Given the description of an element on the screen output the (x, y) to click on. 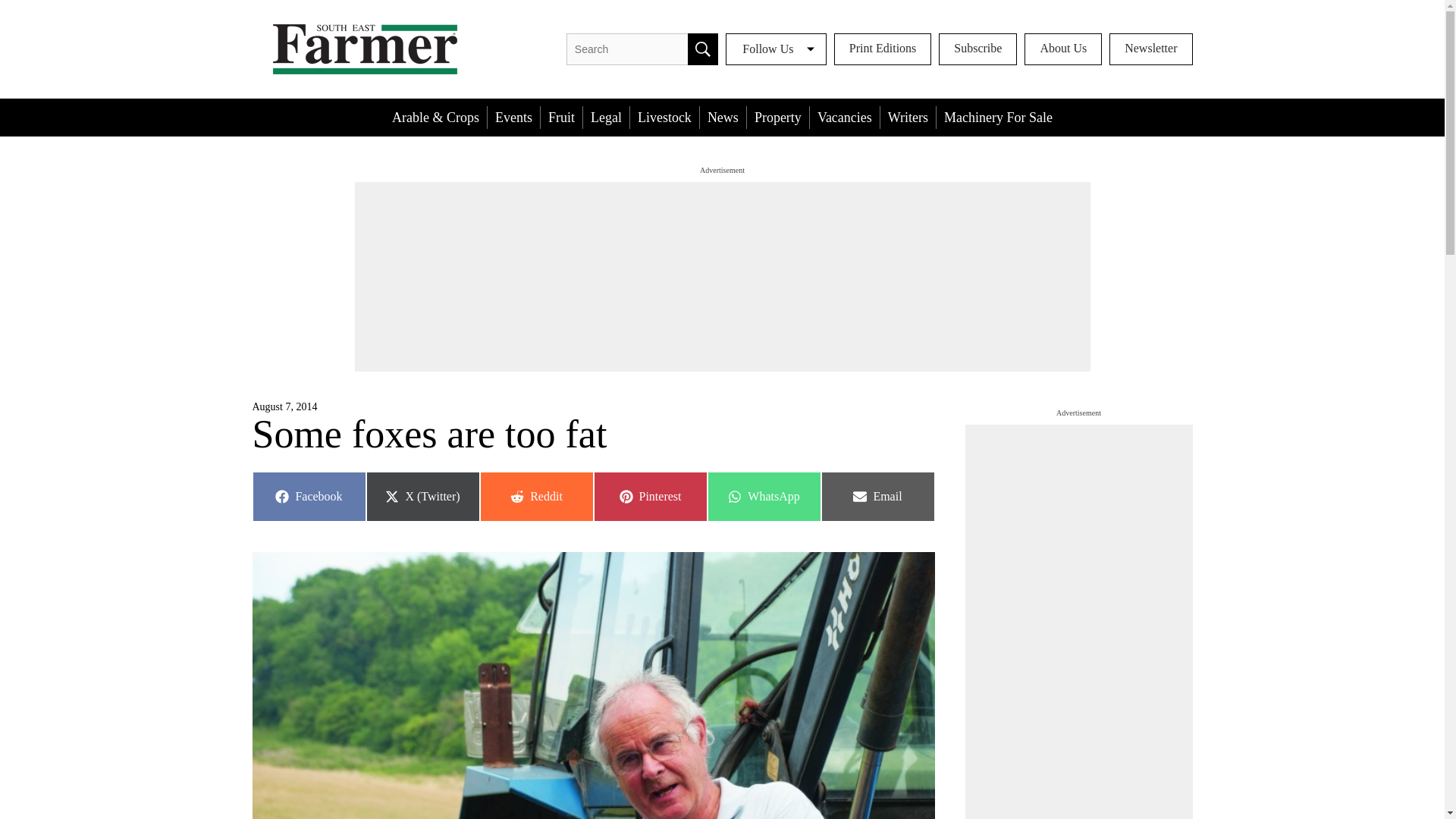
News (722, 117)
Property (777, 117)
Vacancies (844, 117)
Newsletter (1150, 49)
Events (513, 117)
Machinery For Sale (649, 496)
Writers (997, 117)
Legal (908, 117)
Search (605, 117)
Subscribe (702, 49)
Fruit (535, 496)
Follow Us (977, 49)
